Given the description of an element on the screen output the (x, y) to click on. 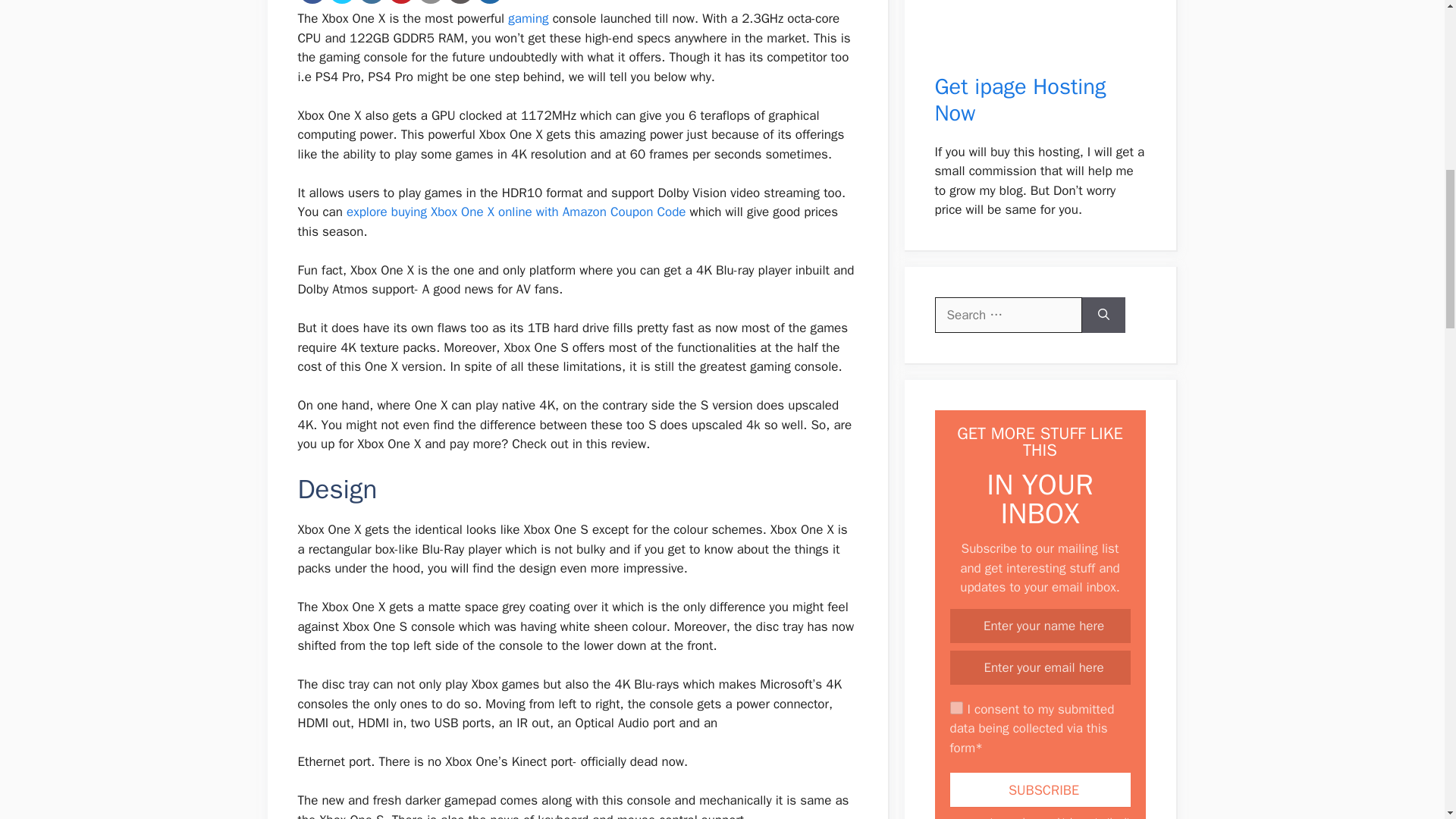
on (955, 707)
Share on Facebook (312, 2)
Print (460, 2)
Share on Pinterest (400, 2)
Share on Twitter (342, 2)
Subscribe (1039, 789)
explore buying Xbox One X online with Amazon Coupon Code (515, 211)
Share on LinkedIn (371, 2)
gaming (528, 18)
Share on Digg (489, 2)
Share it on Email (430, 2)
